Given the description of an element on the screen output the (x, y) to click on. 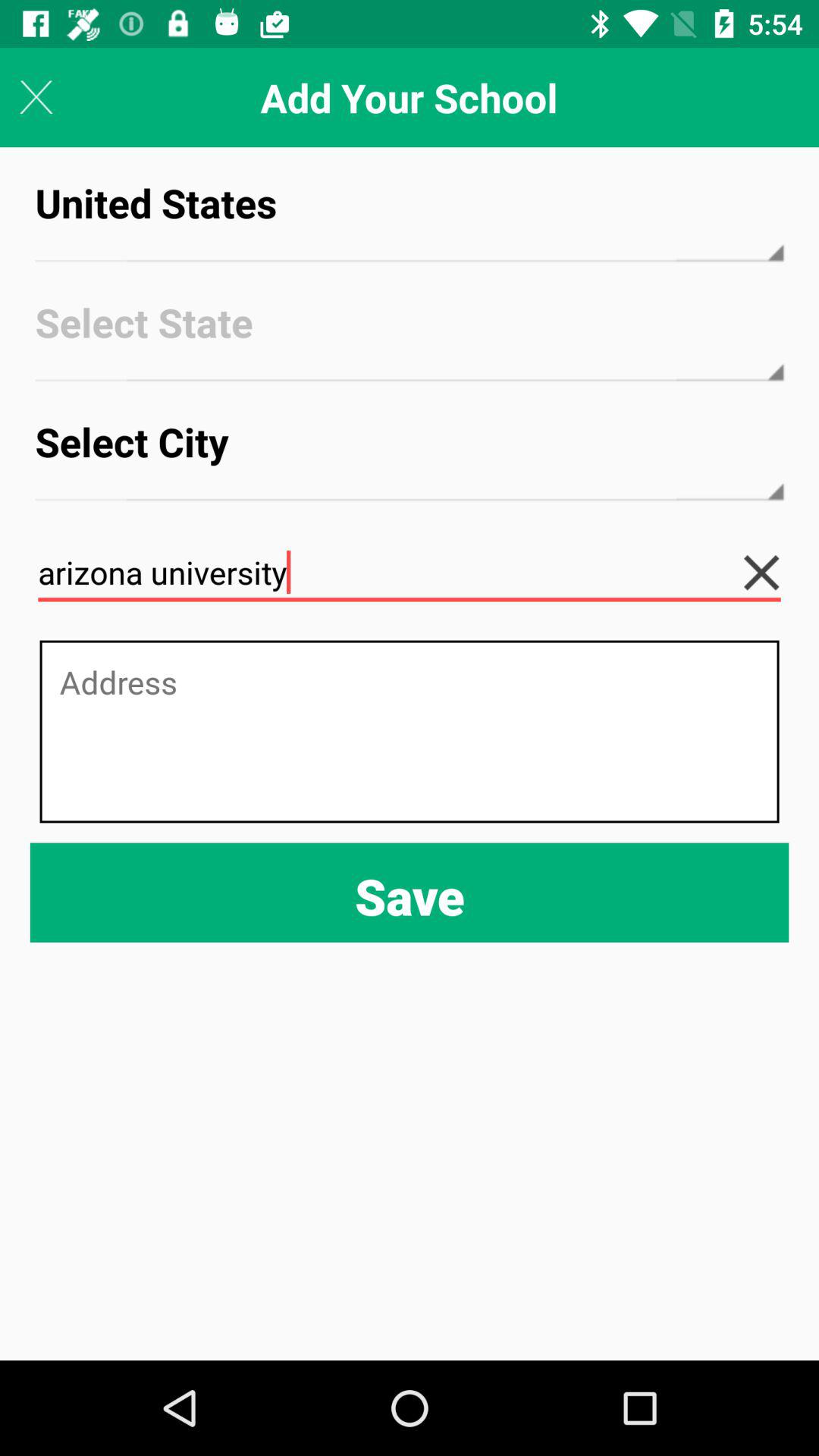
select item below select city icon (409, 572)
